Given the description of an element on the screen output the (x, y) to click on. 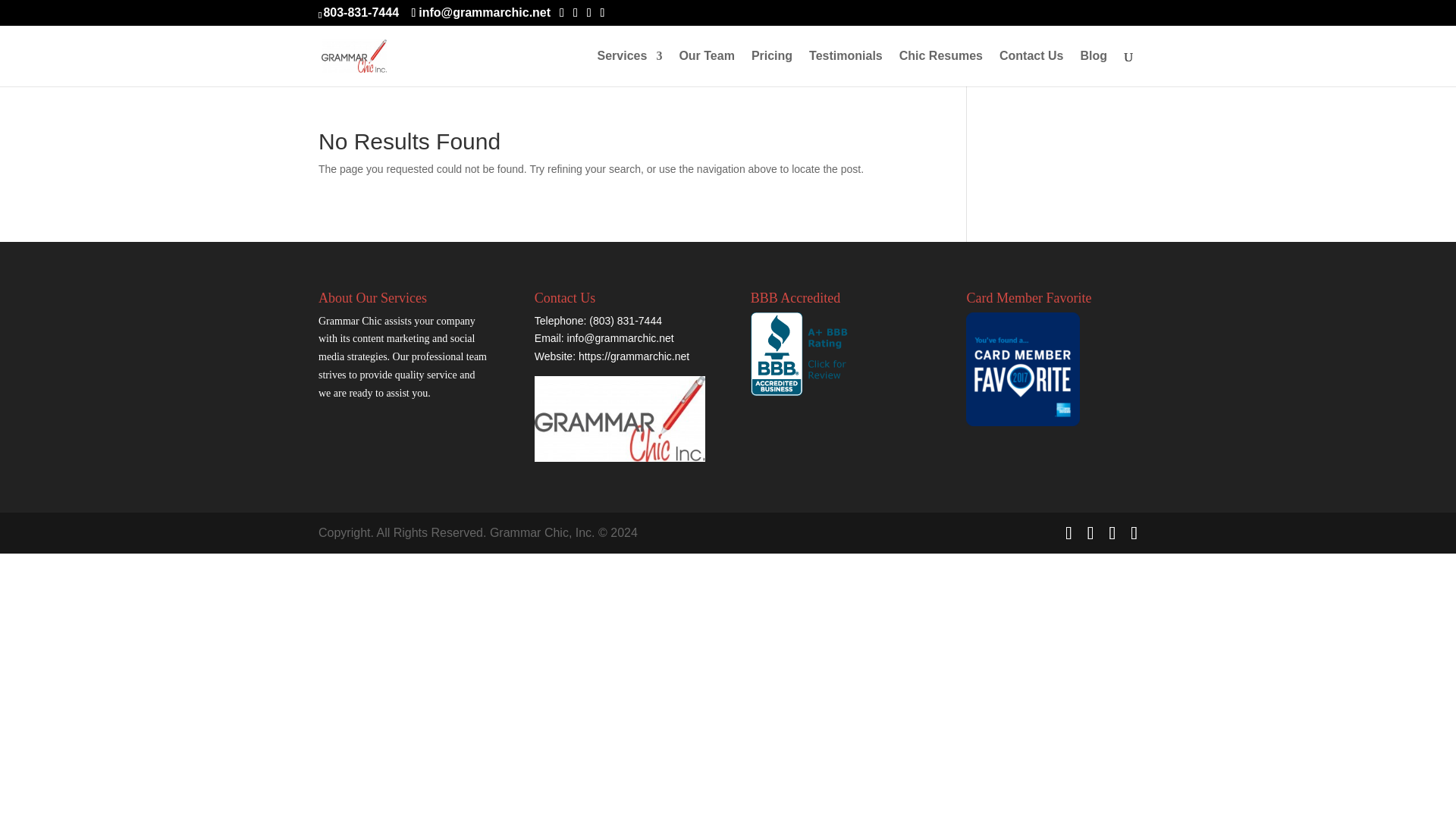
Contact Us (1030, 68)
Our Team (706, 68)
Testimonials (845, 68)
Pricing (771, 68)
Chic Resumes (940, 68)
Services (629, 68)
803-831-7444 (360, 11)
